Given the description of an element on the screen output the (x, y) to click on. 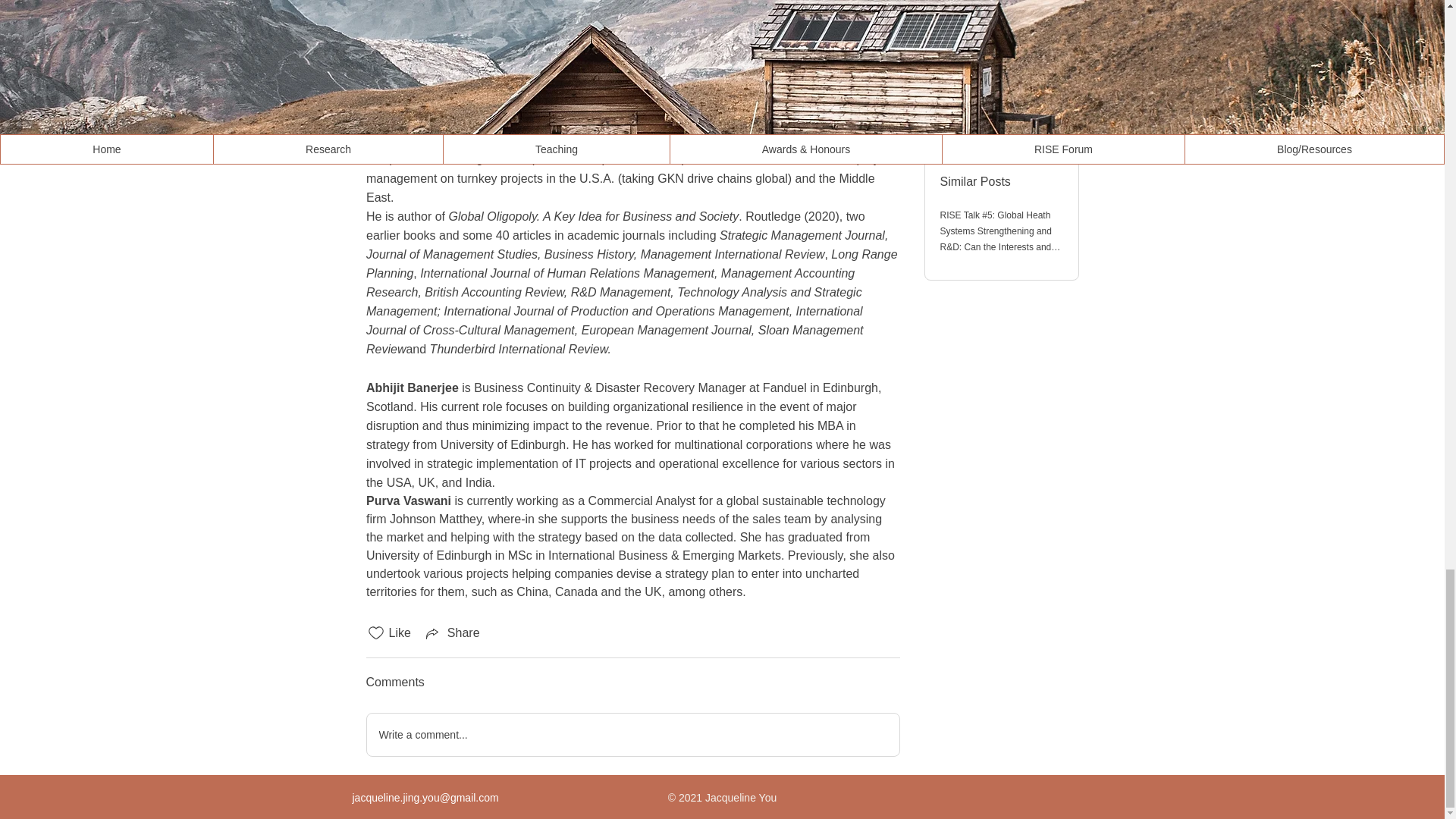
Share (451, 633)
Write a comment... (632, 734)
